Given the description of an element on the screen output the (x, y) to click on. 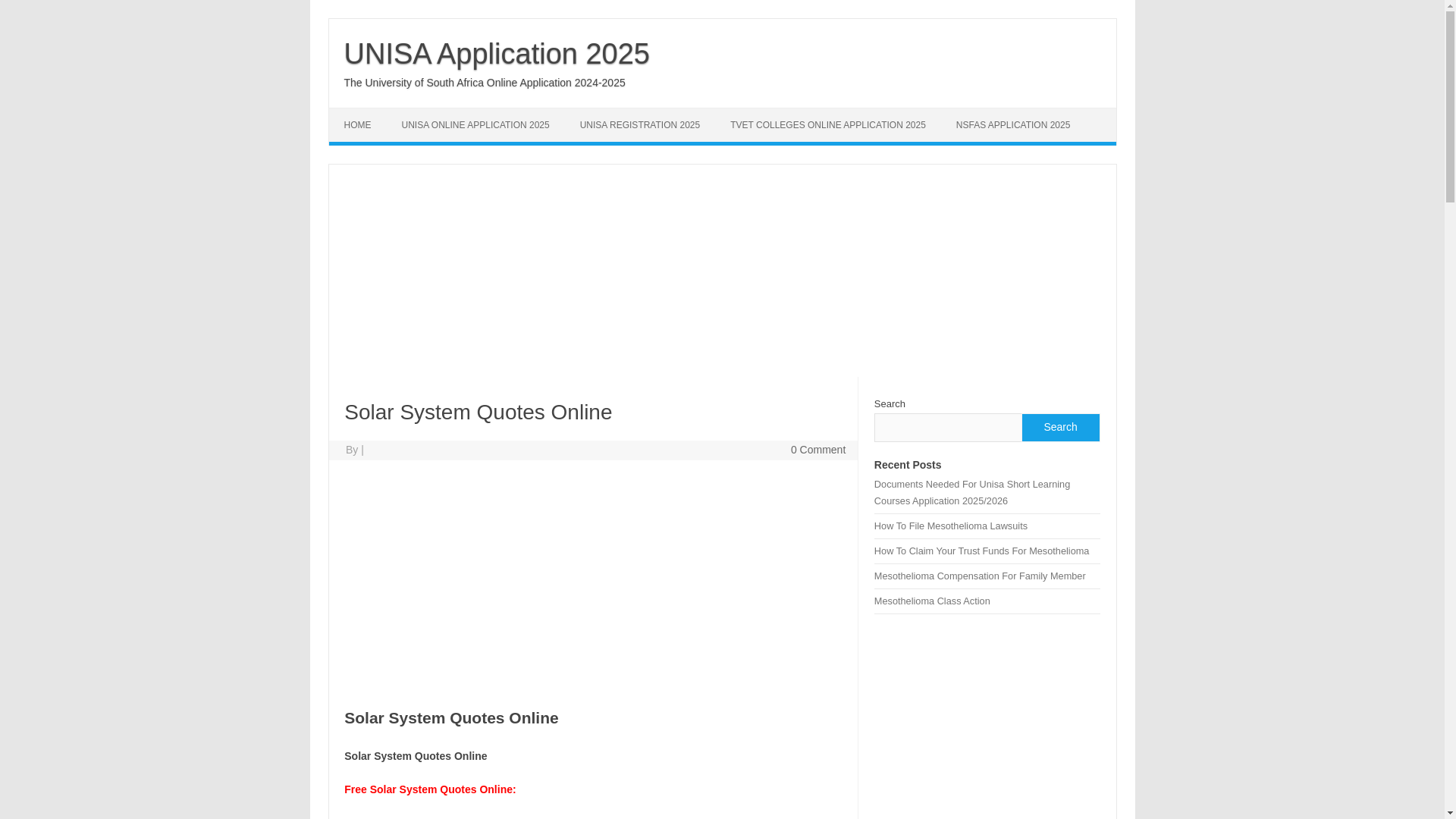
How To File Mesothelioma Lawsuits (951, 525)
UNISA ONLINE APPLICATION 2025 (475, 124)
UNISA Application 2025 (496, 53)
UNISA REGISTRATION 2025 (640, 124)
0 Comment (817, 449)
NSFAS APPLICATION 2025 (1013, 124)
Mesothelioma Compensation For Family Member (980, 575)
The University of South Africa Online Application 2024-2025 (484, 82)
